Given the description of an element on the screen output the (x, y) to click on. 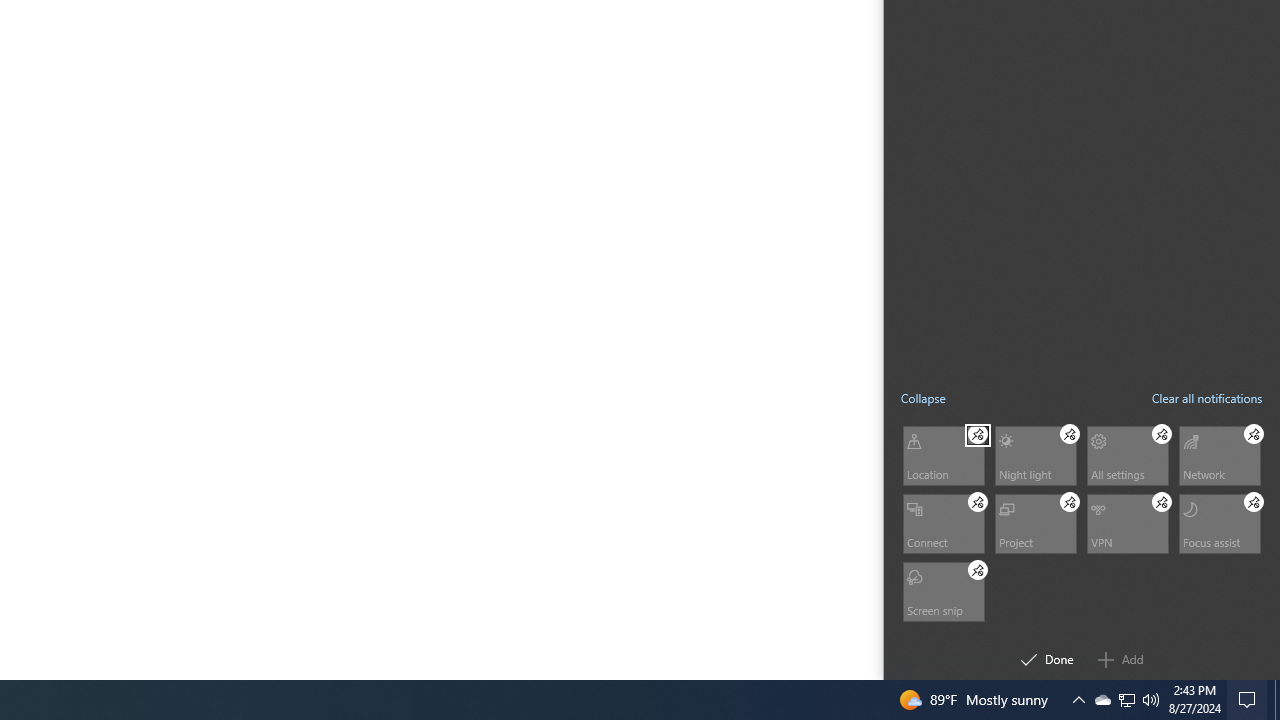
Location (942, 454)
